Given the description of an element on the screen output the (x, y) to click on. 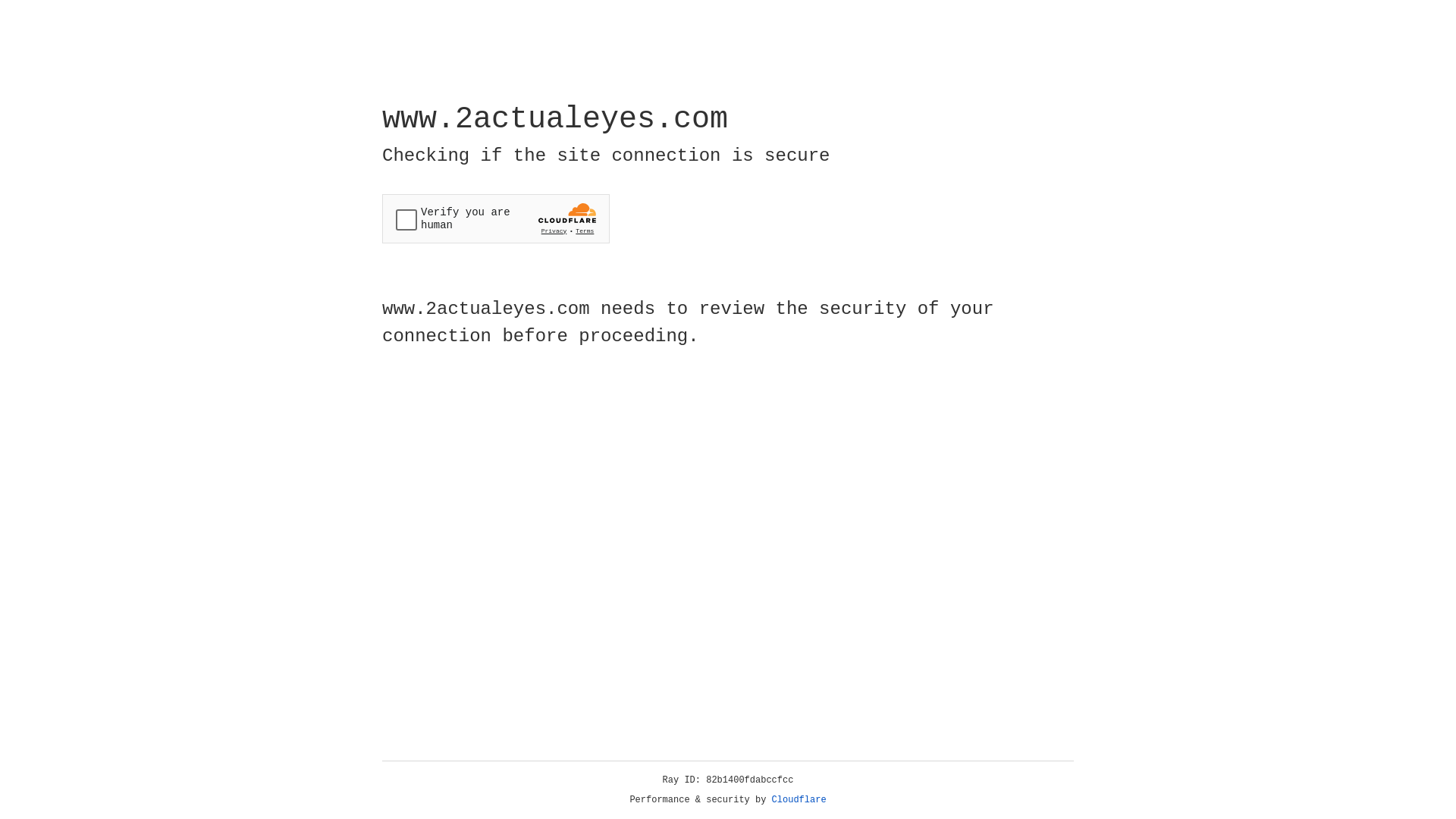
Cloudflare Element type: text (798, 799)
Widget containing a Cloudflare security challenge Element type: hover (495, 218)
